Given the description of an element on the screen output the (x, y) to click on. 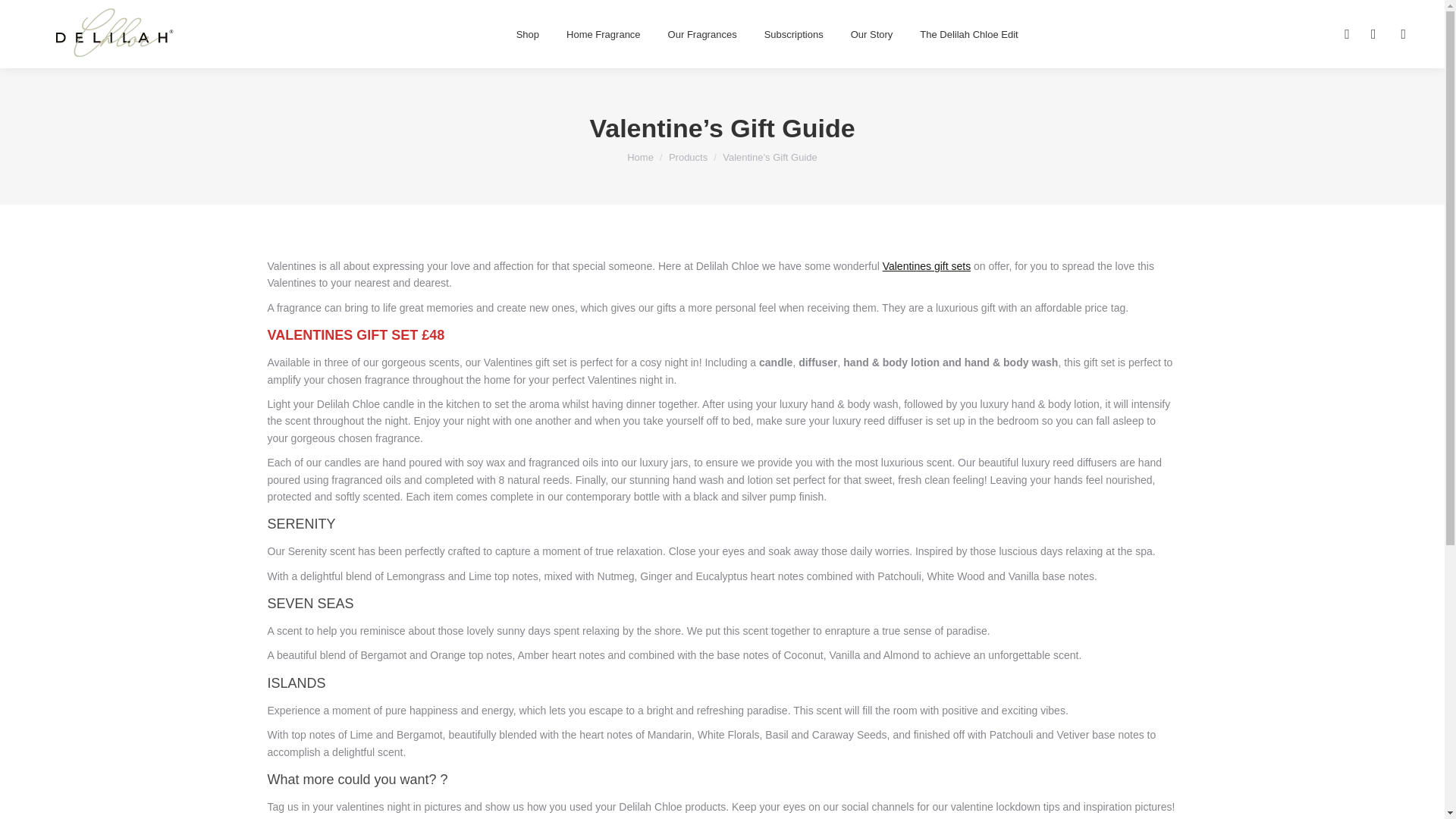
Our Fragrances (702, 33)
Our Story (871, 33)
Go! (26, 15)
Subscriptions (794, 33)
Products (687, 156)
Home Fragrance (603, 33)
Home (640, 156)
The Delilah Chloe Edit (968, 33)
